Given the description of an element on the screen output the (x, y) to click on. 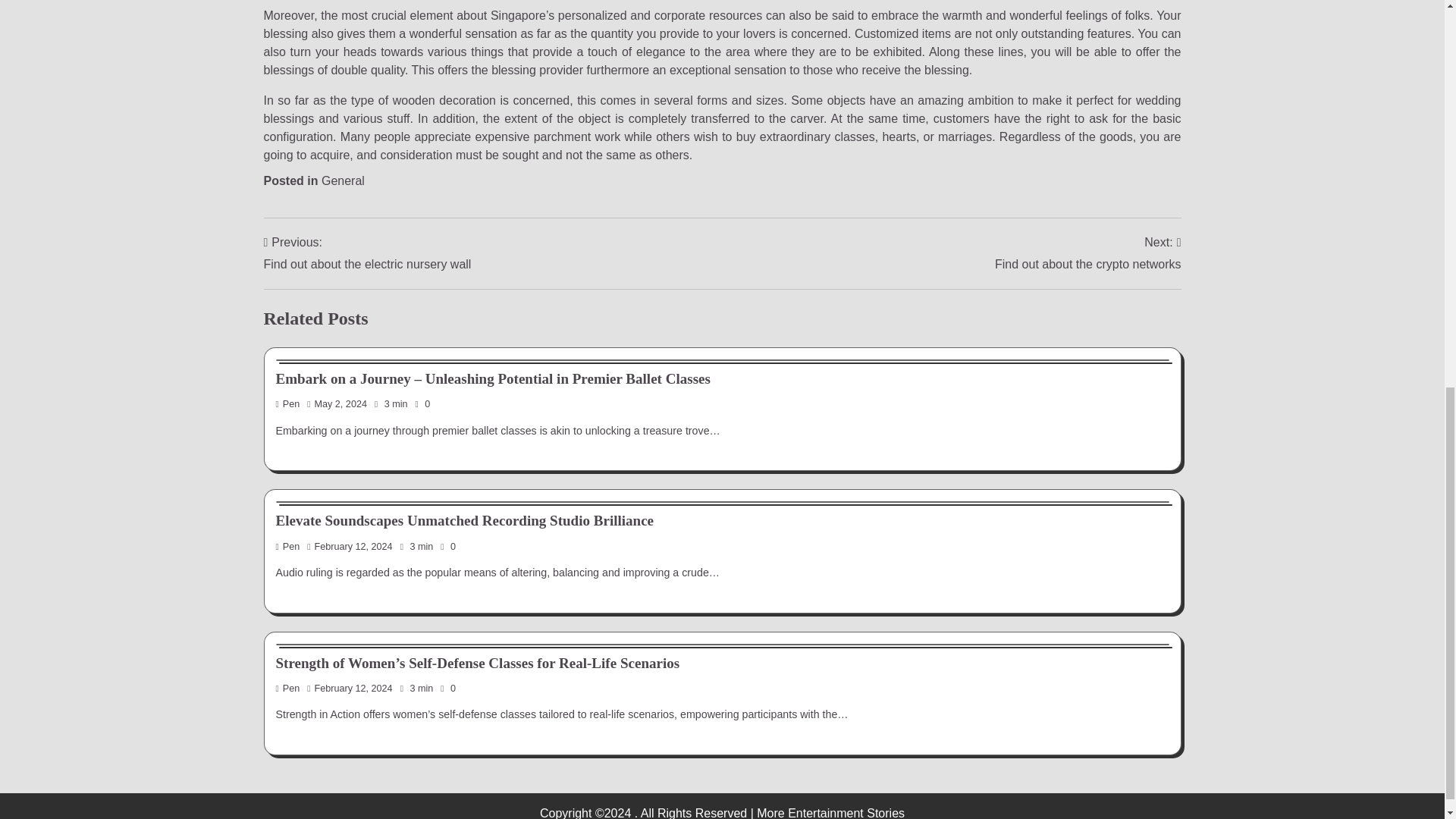
Pen (367, 253)
General (287, 546)
Elevate Soundscapes Unmatched Recording Studio Brilliance (1087, 253)
Pen (343, 180)
Pen (464, 520)
